Given the description of an element on the screen output the (x, y) to click on. 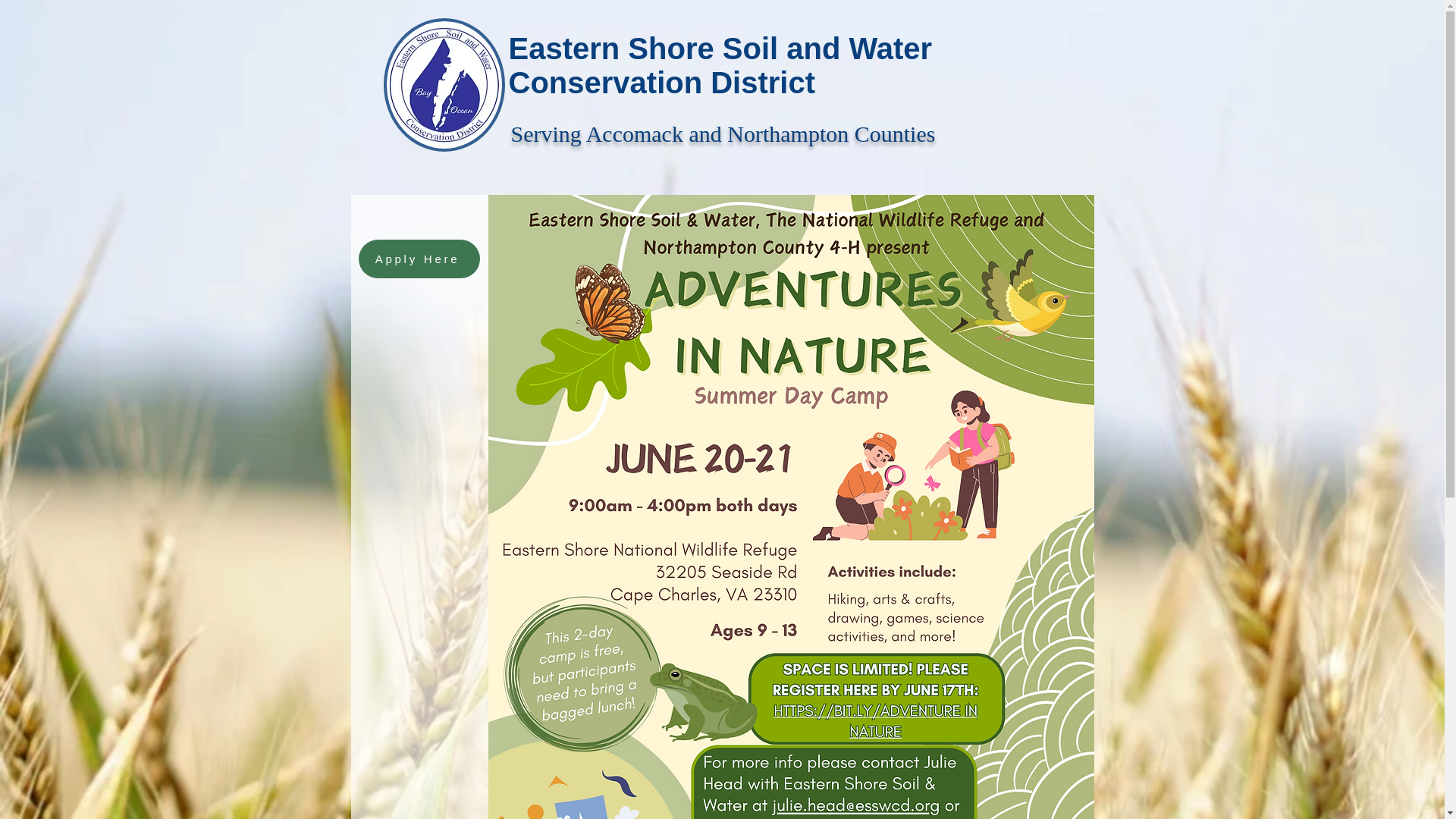
Eastern Shore Soil and Water Conservation District (719, 65)
Apply Here (418, 258)
